Given the description of an element on the screen output the (x, y) to click on. 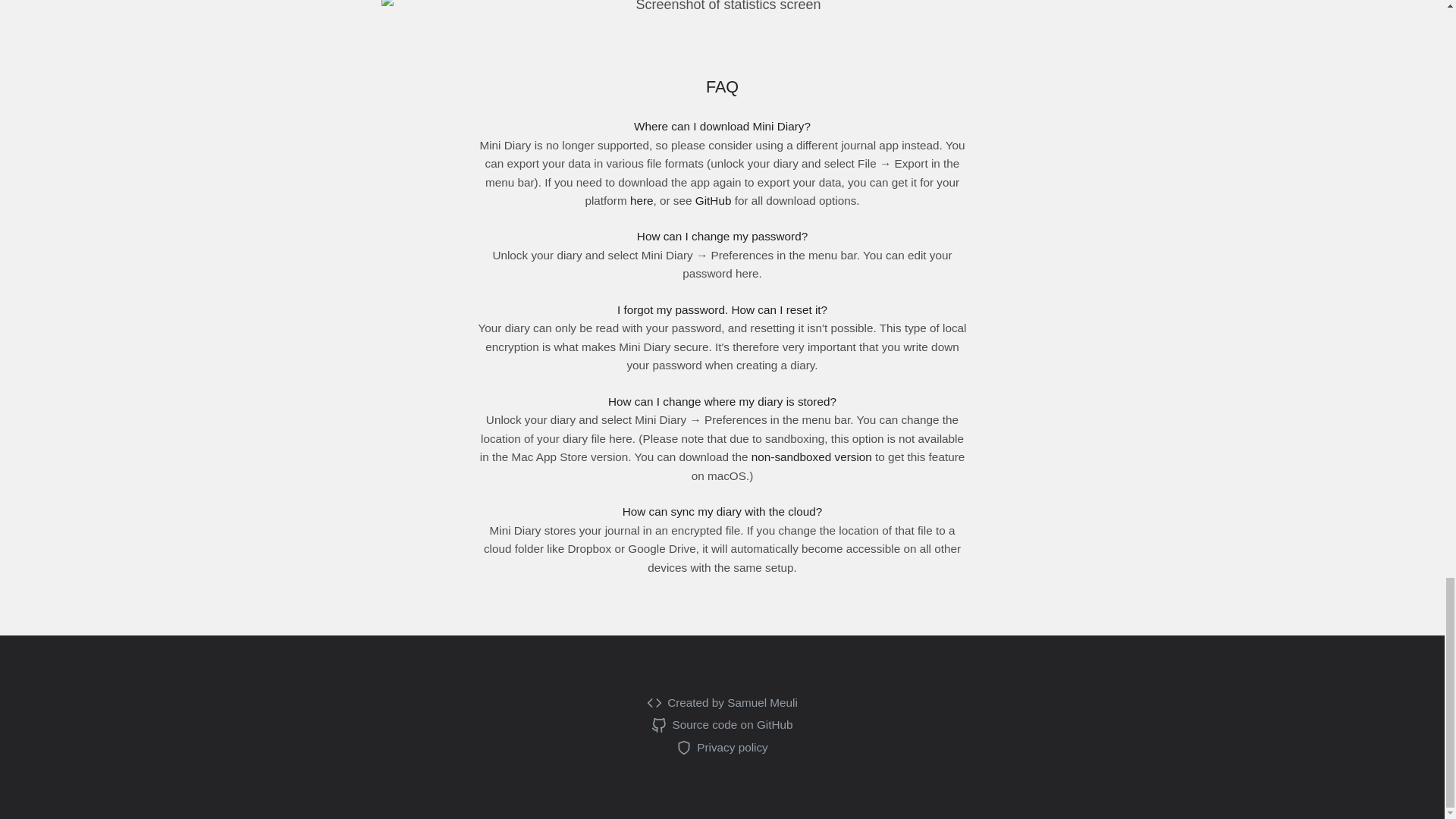
here (641, 200)
Privacy policy (722, 747)
Created by Samuel Meuli (721, 702)
non-sandboxed version (811, 456)
Source code on GitHub (721, 724)
GitHub (713, 200)
